Given the description of an element on the screen output the (x, y) to click on. 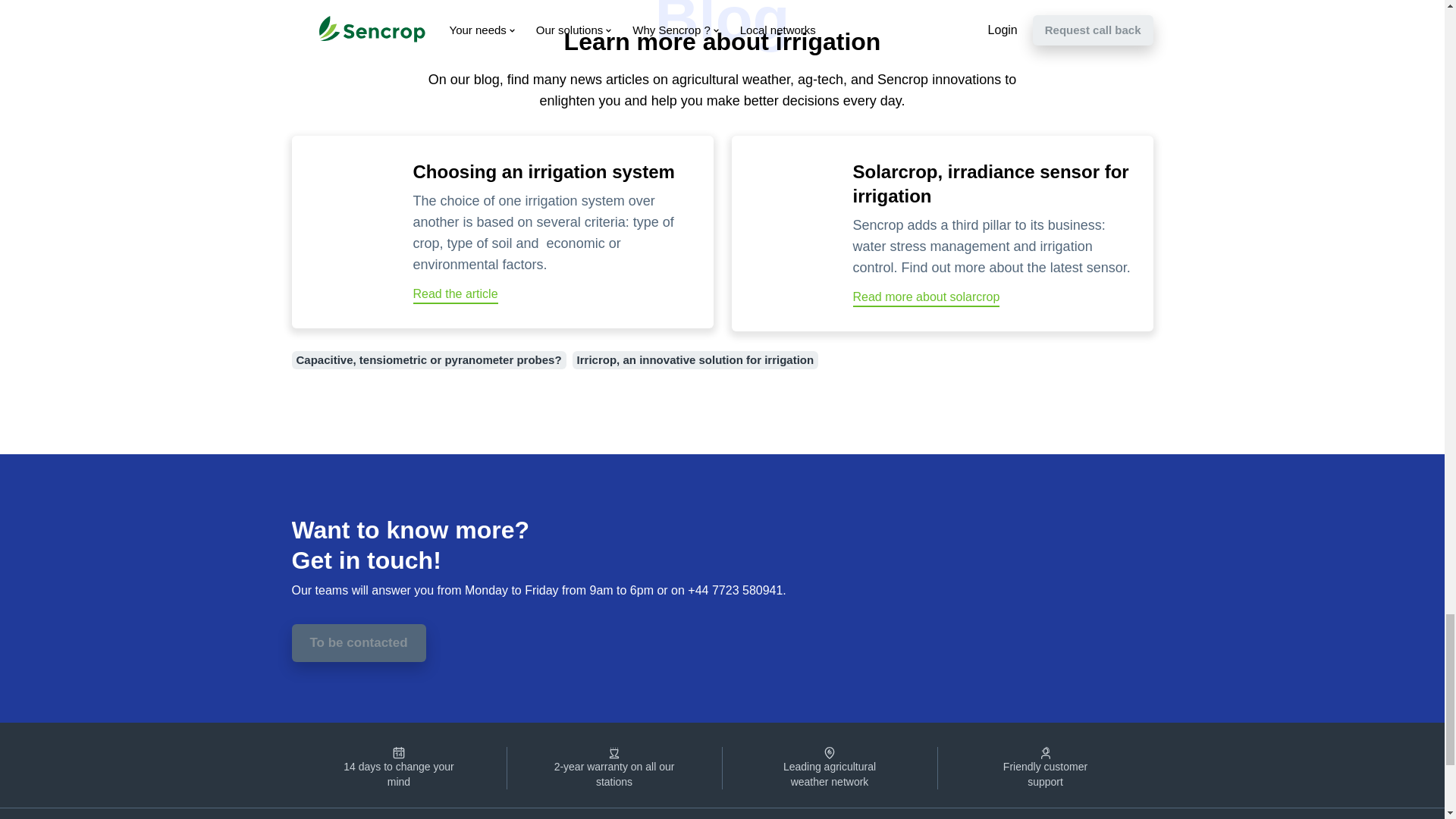
Read more about solarcrop (924, 298)
Read the article (454, 295)
Capacitive, tensiometric or pyranometer probes? (428, 360)
